Given the description of an element on the screen output the (x, y) to click on. 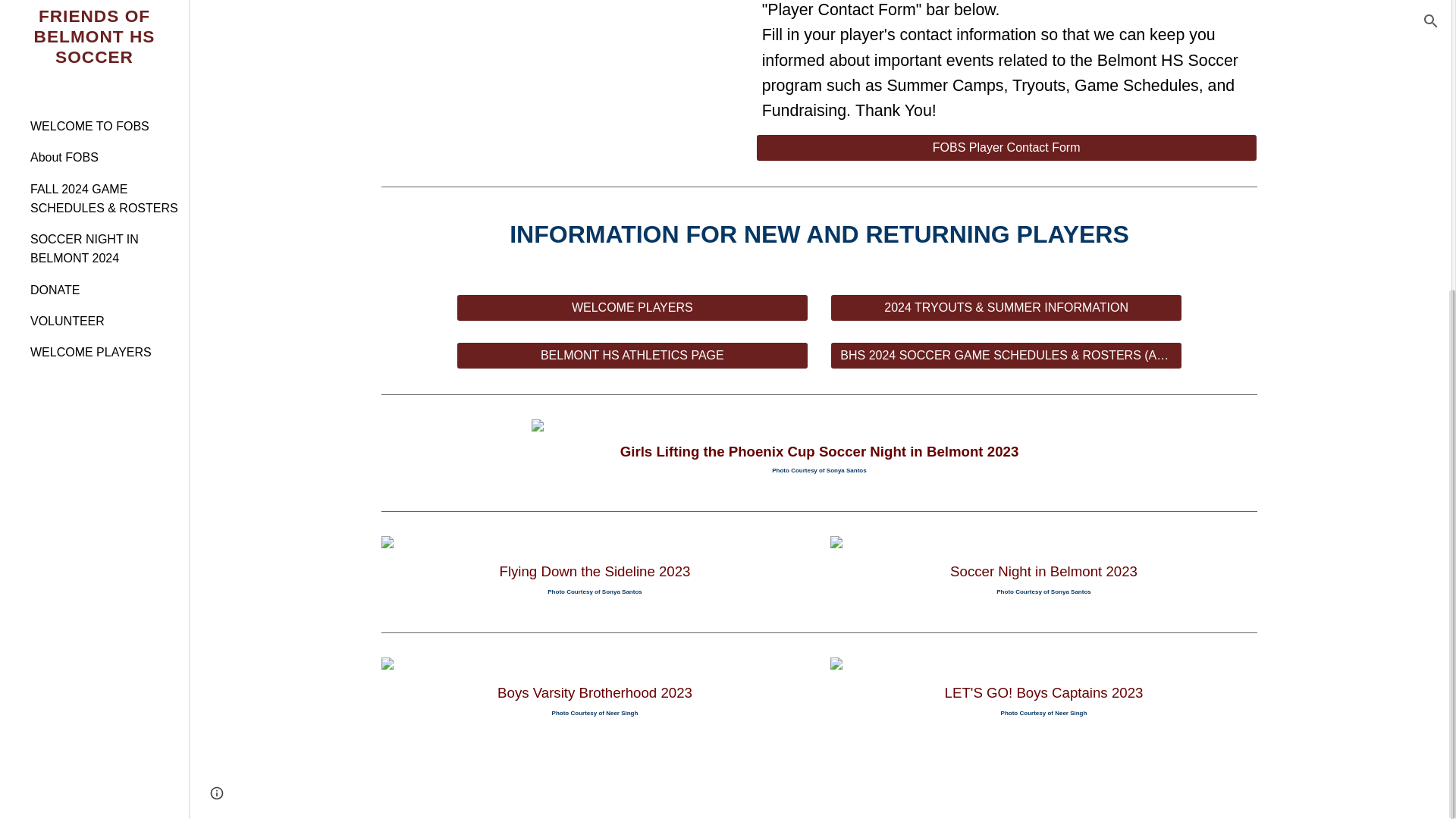
Player Contact Form (893, 779)
DONATE (744, 779)
CONTACT US (1043, 779)
VOLUNTEER (595, 779)
BELMONT HS ATHLETICS PAGE (632, 354)
FOBS Player Contact Form (1006, 147)
WELCOME PLAYERS (632, 306)
